Given the description of an element on the screen output the (x, y) to click on. 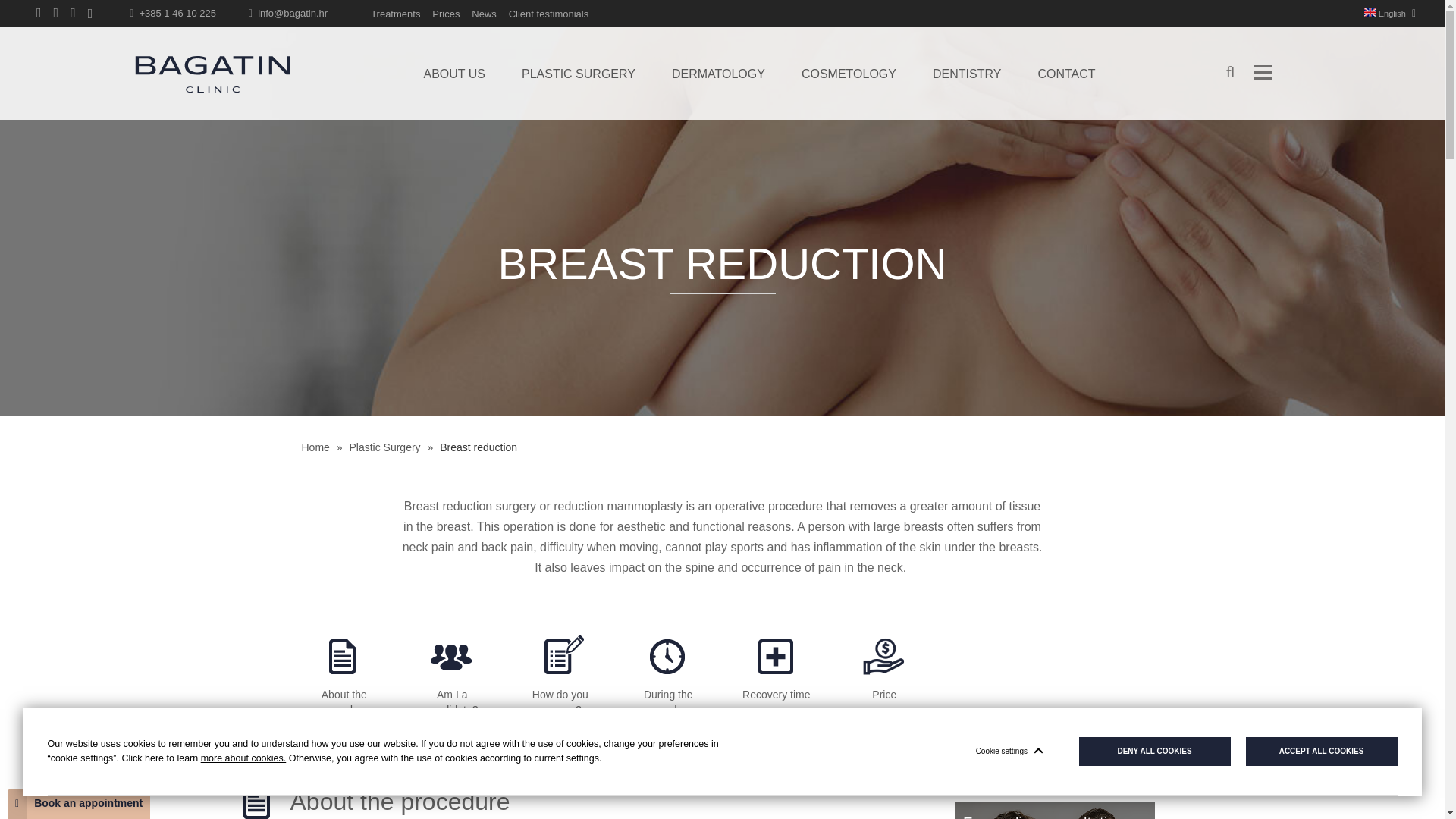
Poliklinika Bagatin (212, 74)
